Given the description of an element on the screen output the (x, y) to click on. 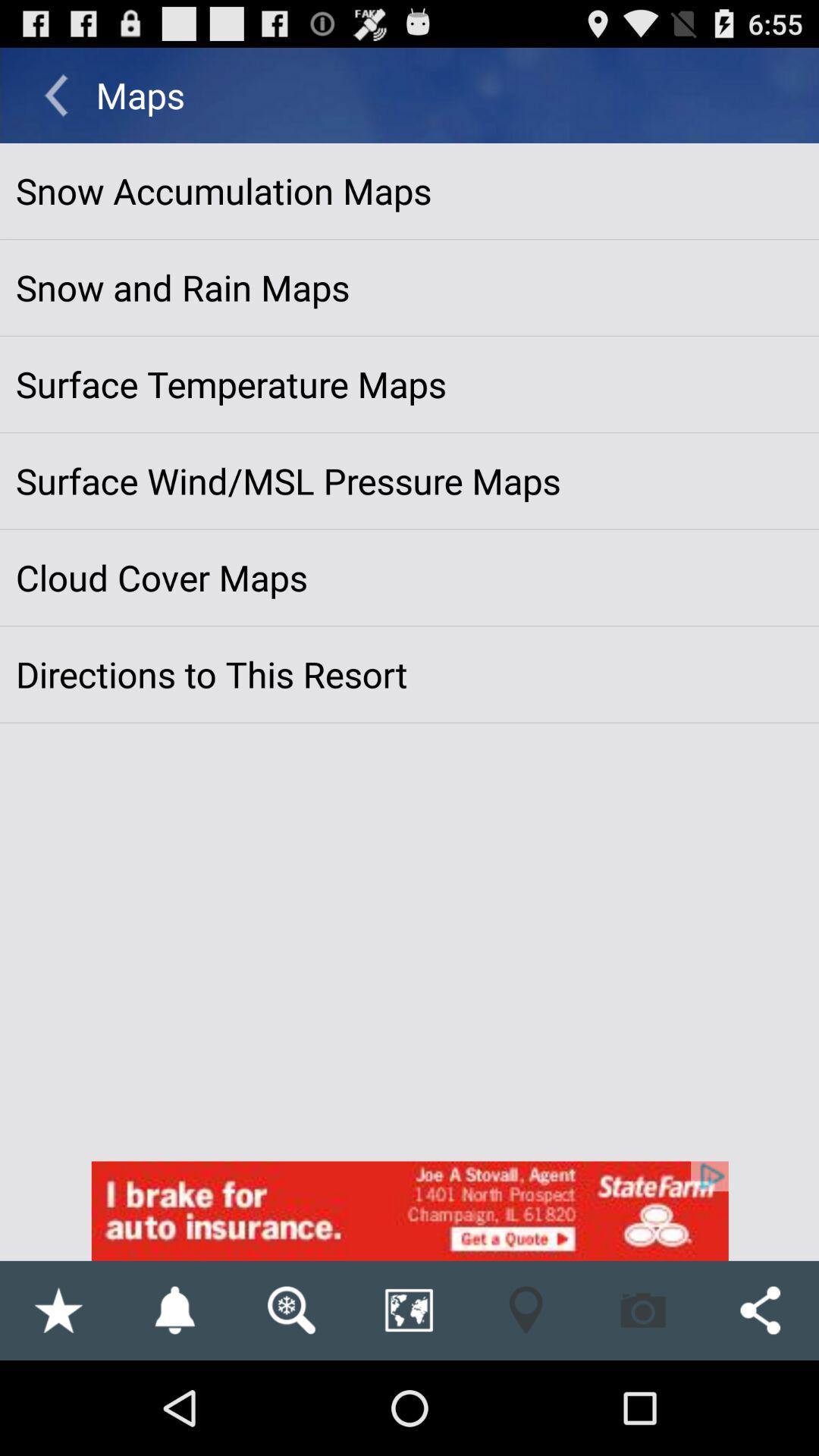
go to favorites section (58, 1310)
